Given the description of an element on the screen output the (x, y) to click on. 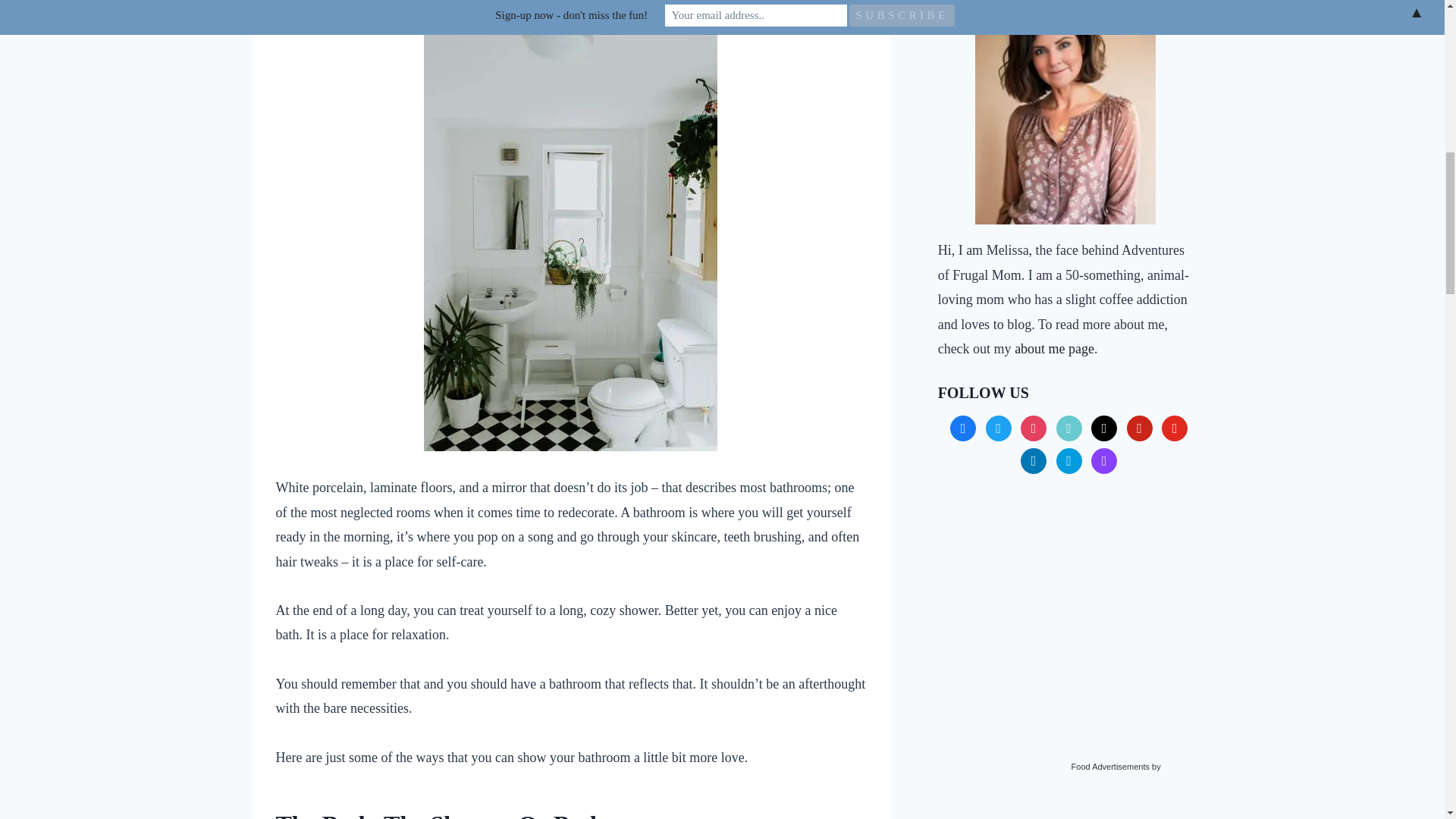
Facebook (962, 426)
Twitter (998, 426)
Instagram (1033, 426)
Default Label (1069, 426)
Default Label (1103, 426)
